Given the description of an element on the screen output the (x, y) to click on. 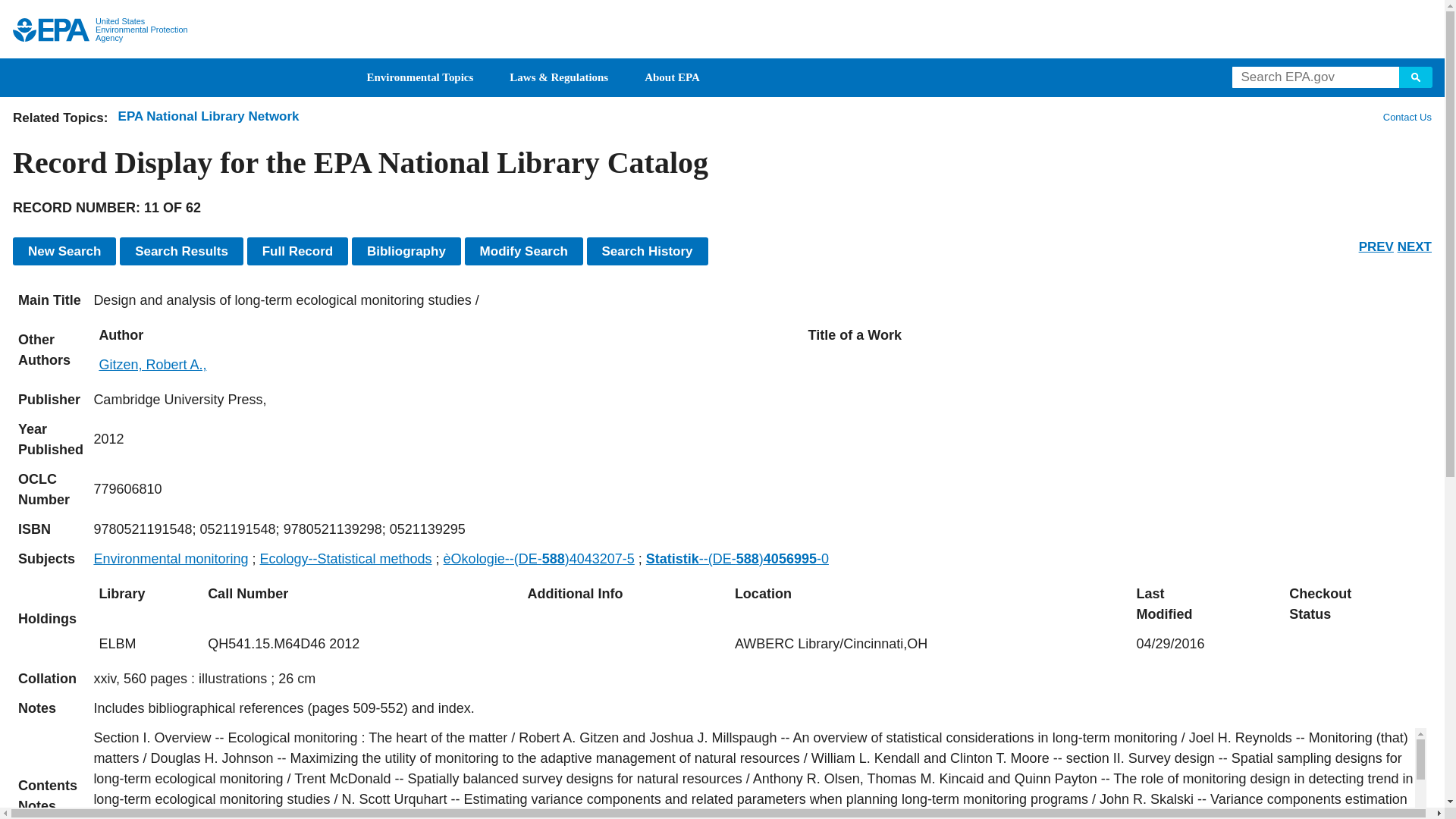
Search Results (181, 251)
Search History (646, 251)
full length text available by clicking full record (759, 773)
full length text available by clicking full record (759, 708)
Your Search History (646, 251)
Modify Search (523, 251)
Environmental Topics (420, 77)
Show results in standard format (181, 251)
